Given the description of an element on the screen output the (x, y) to click on. 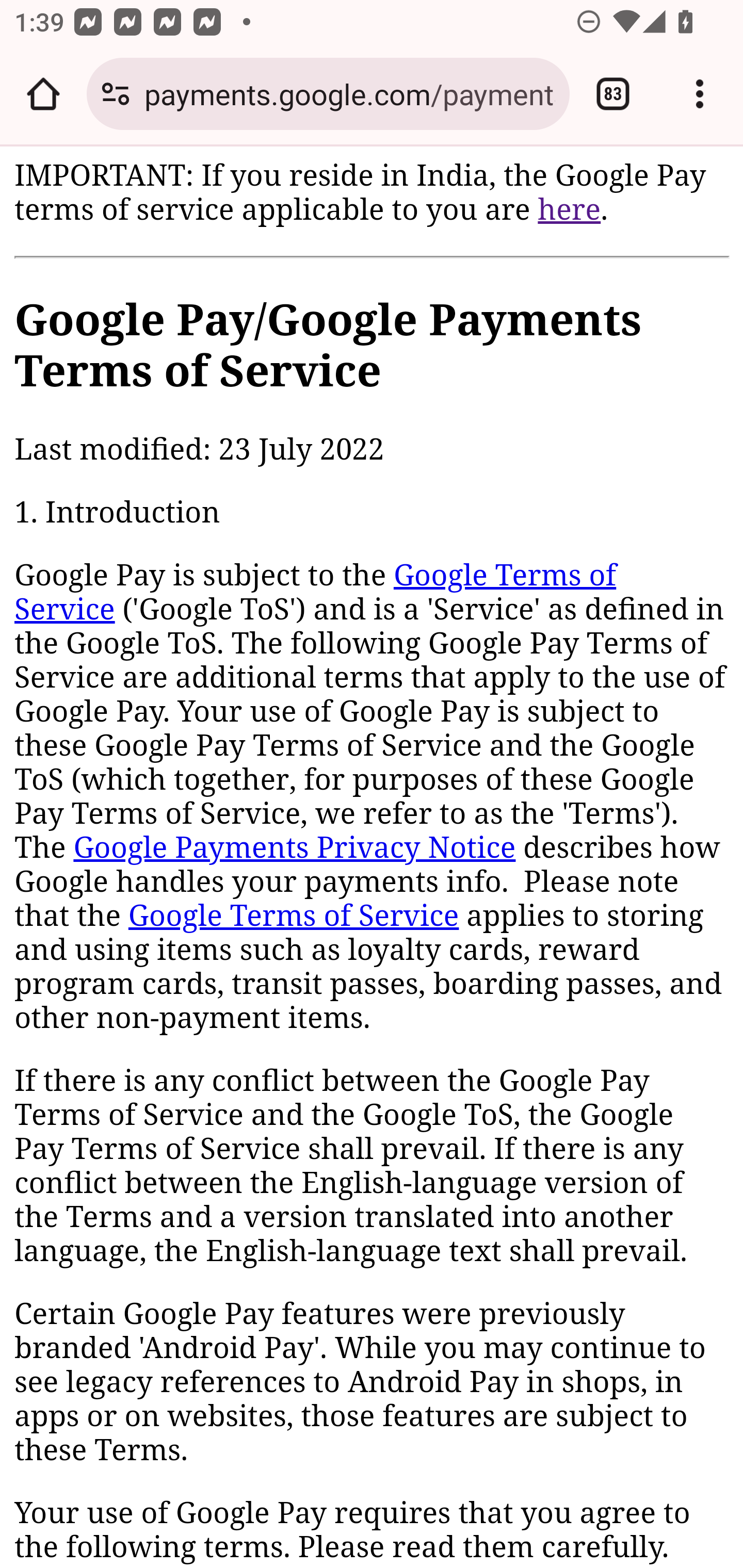
Open the home page (43, 93)
Connection is secure (115, 93)
Switch or close tabs (612, 93)
Customize and control Google Chrome (699, 93)
here (568, 209)
Google Terms of Service (315, 593)
Google Payments Privacy Notice (294, 849)
Google Terms of Service (292, 916)
